Given the description of an element on the screen output the (x, y) to click on. 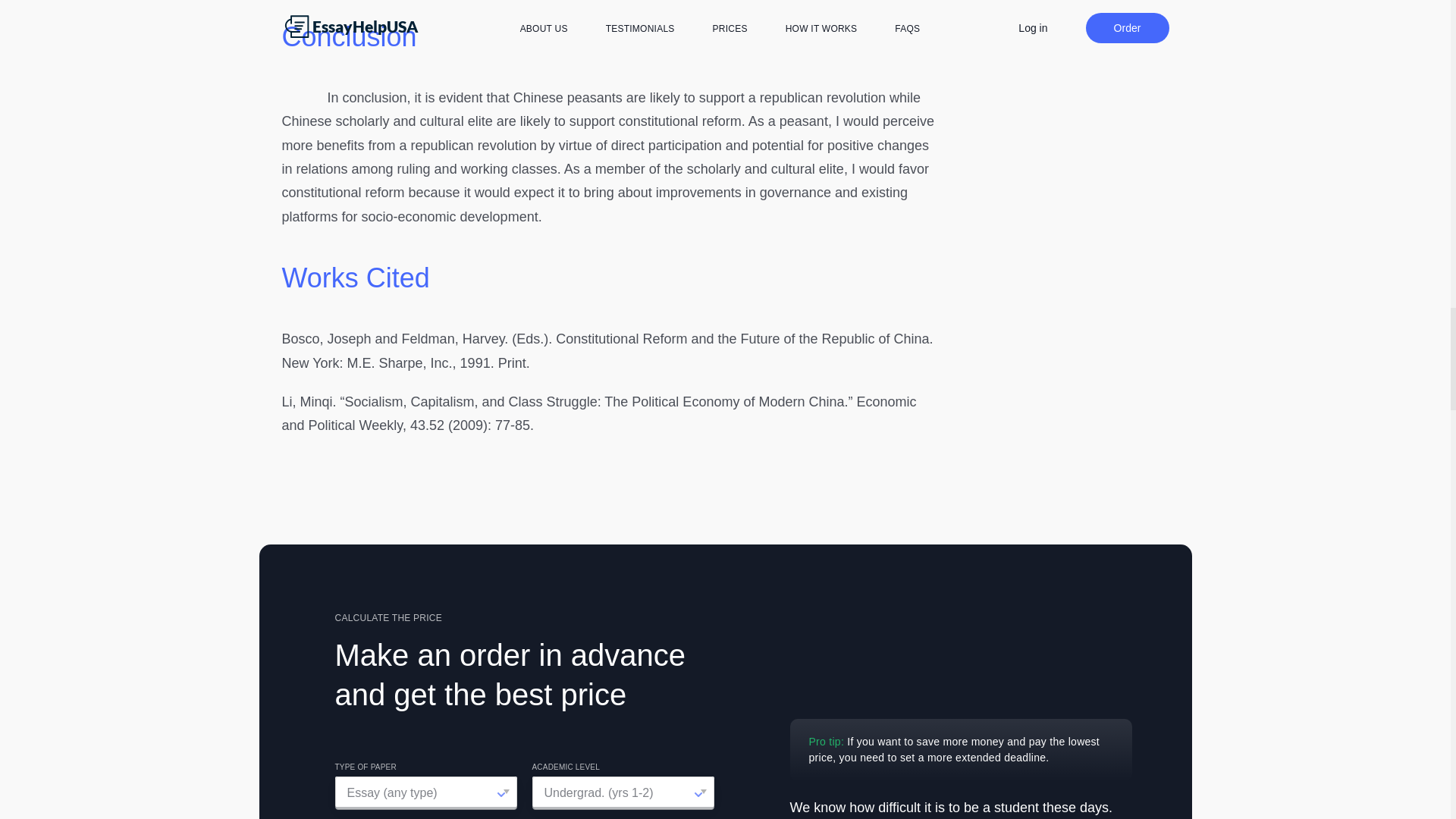
Works Cited (355, 277)
Conclusion (349, 36)
